Given the description of an element on the screen output the (x, y) to click on. 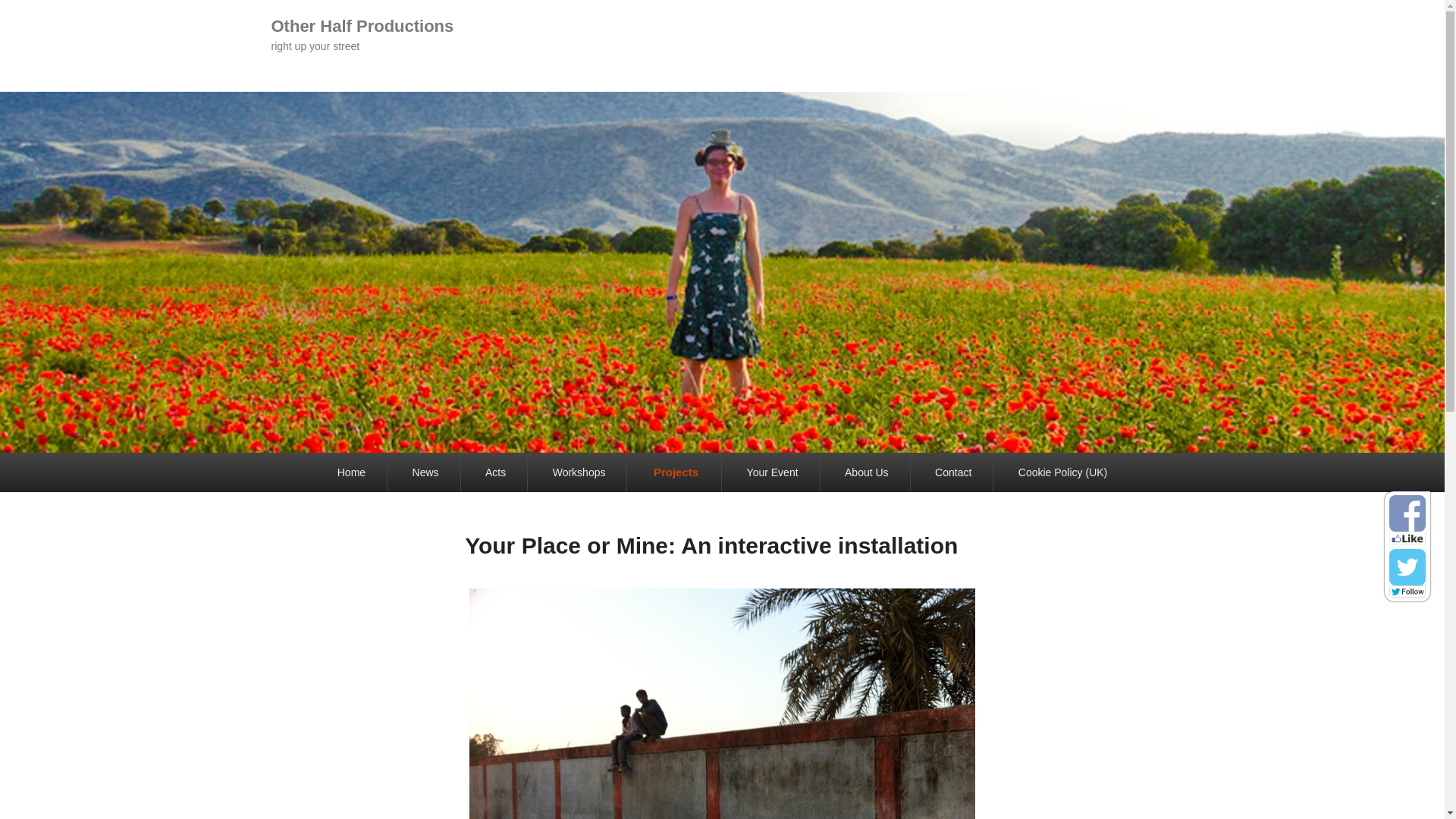
Other Half Productions (362, 26)
Other Half Productions (362, 26)
Projects (675, 472)
Contact (953, 472)
hide (1426, 494)
Workshops (579, 472)
News (425, 472)
Acts (495, 472)
About Us (867, 472)
Home (351, 472)
